Given the description of an element on the screen output the (x, y) to click on. 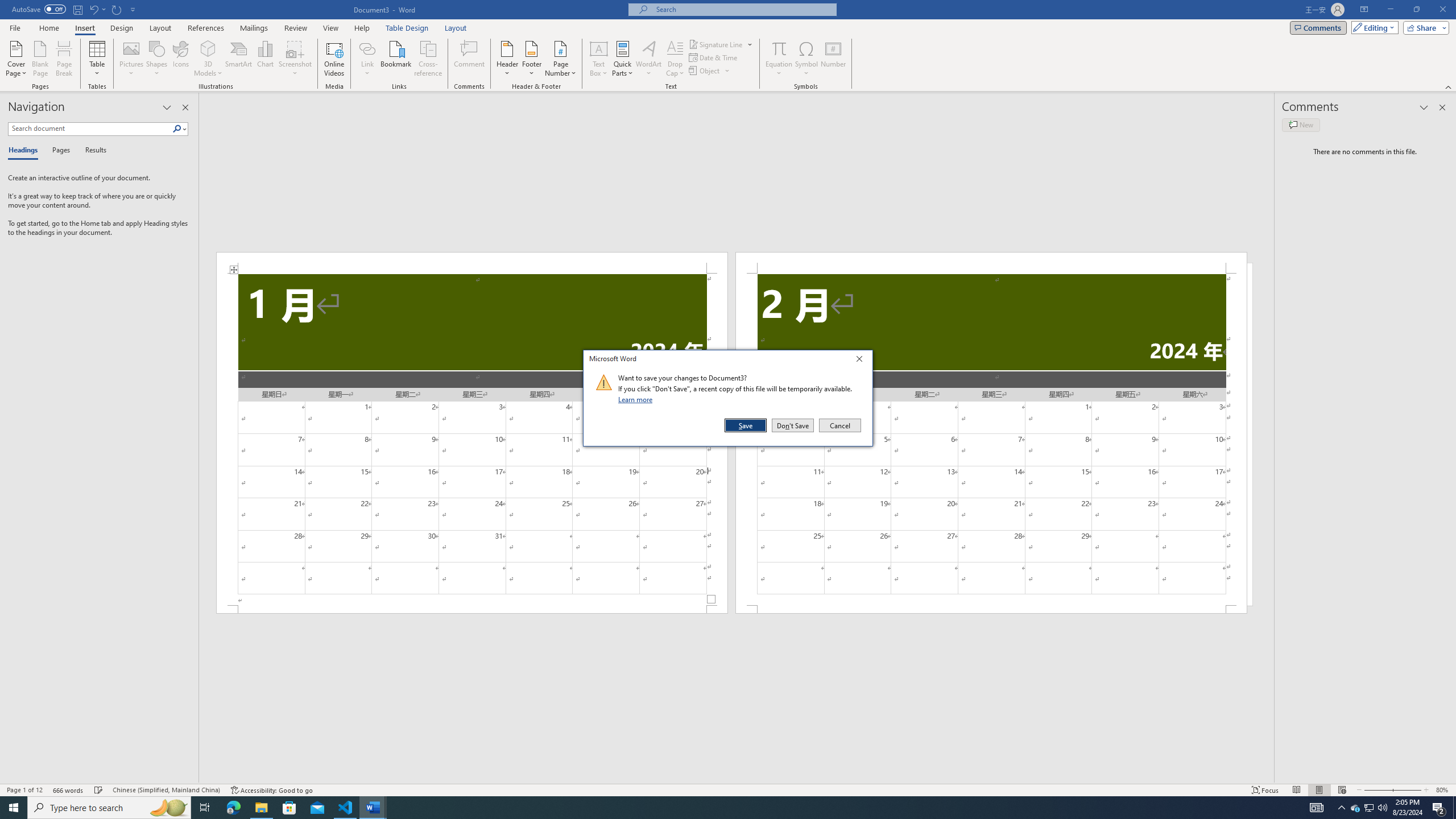
Show desktop (1454, 807)
Footer -Section 1- (471, 609)
Link (367, 58)
Equation (778, 58)
Date & Time... (714, 56)
Undo Increase Indent (92, 9)
Repeat Doc Close (117, 9)
